Given the description of an element on the screen output the (x, y) to click on. 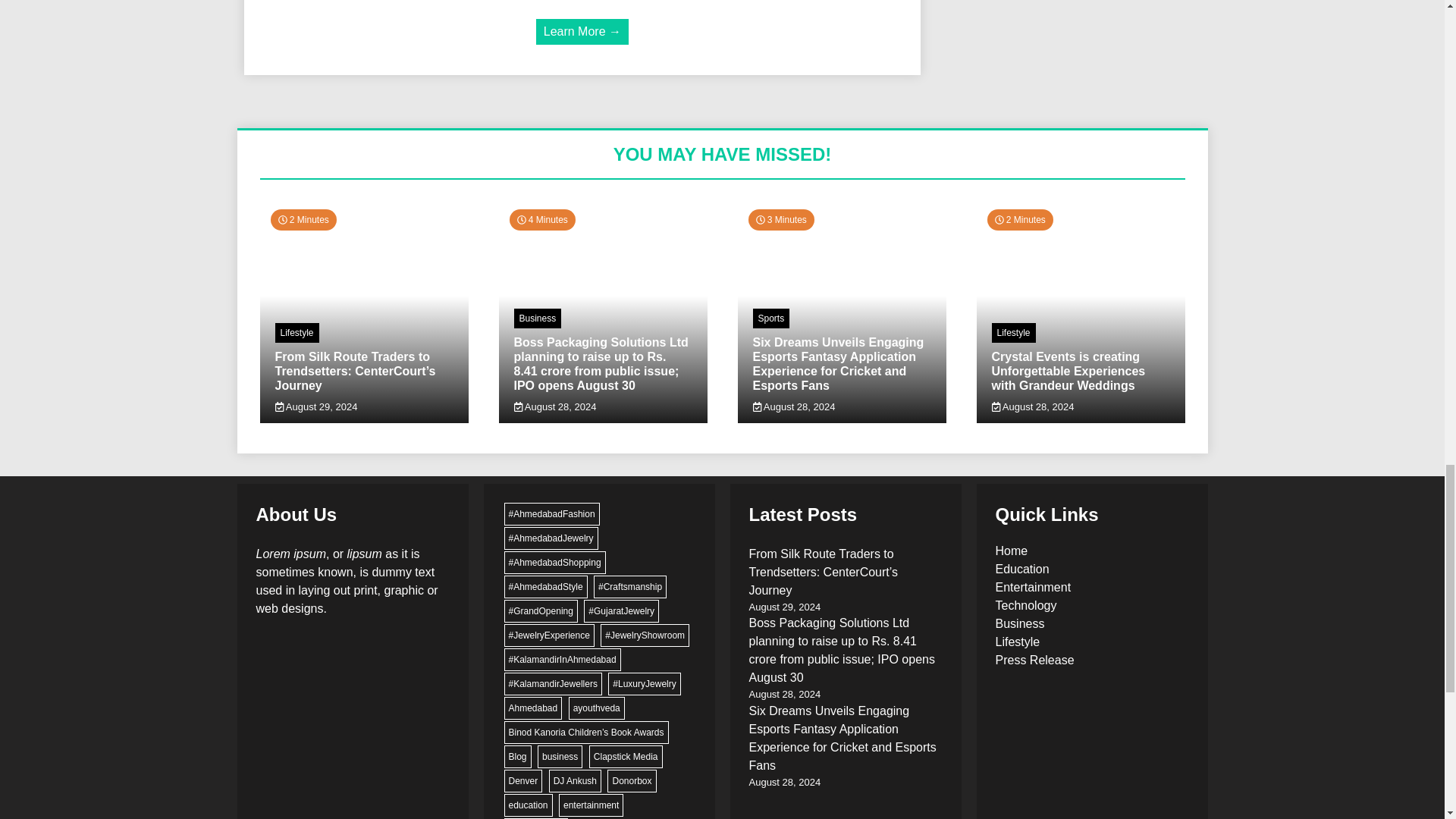
Estimated Reading Time of Article (542, 219)
Estimated Reading Time of Article (302, 219)
Estimated Reading Time of Article (780, 219)
Estimated Reading Time of Article (1019, 219)
